Given the description of an element on the screen output the (x, y) to click on. 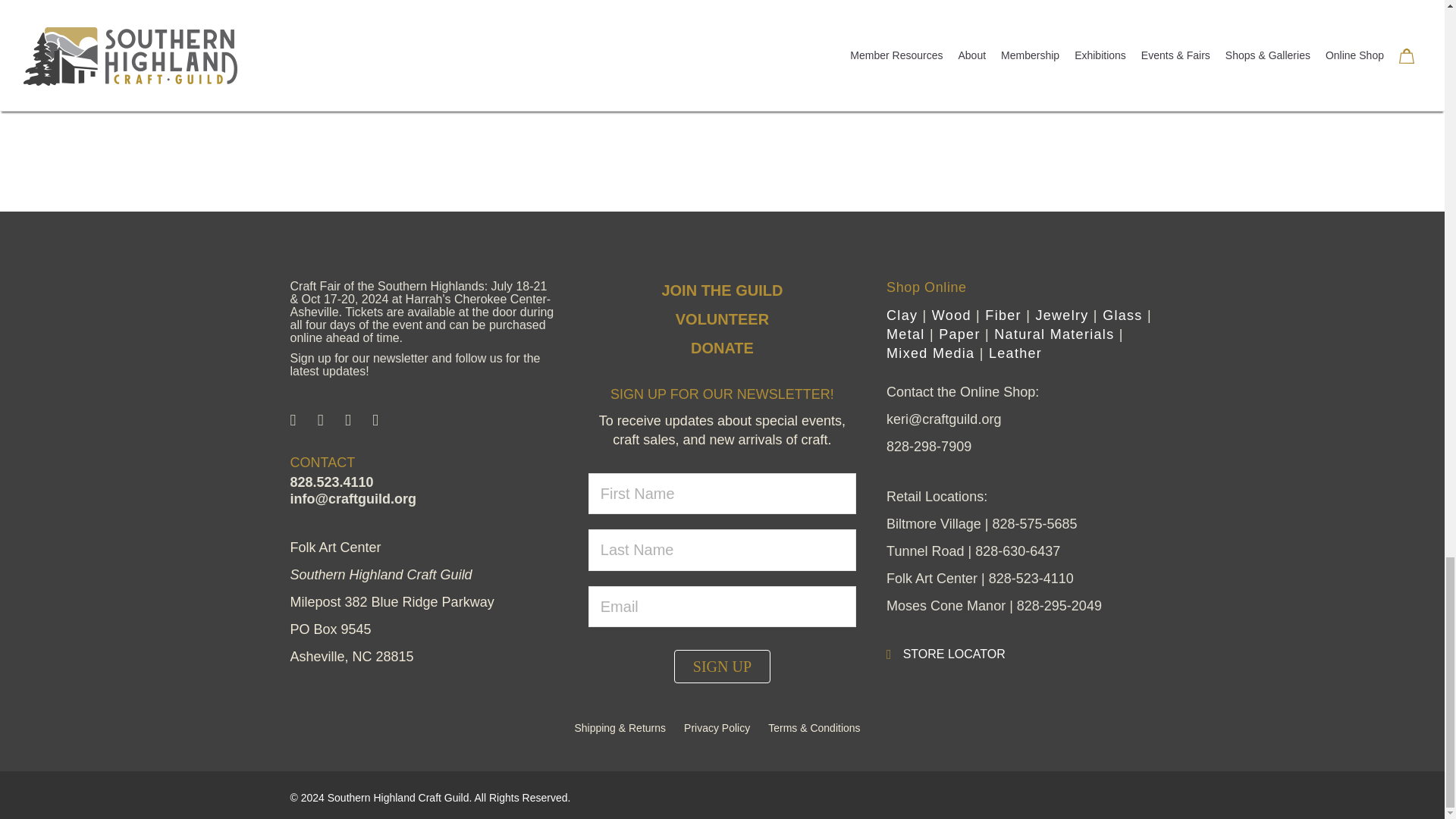
Volunteer (721, 319)
Donate (722, 347)
JOIN THE GUILD (722, 289)
